Given the description of an element on the screen output the (x, y) to click on. 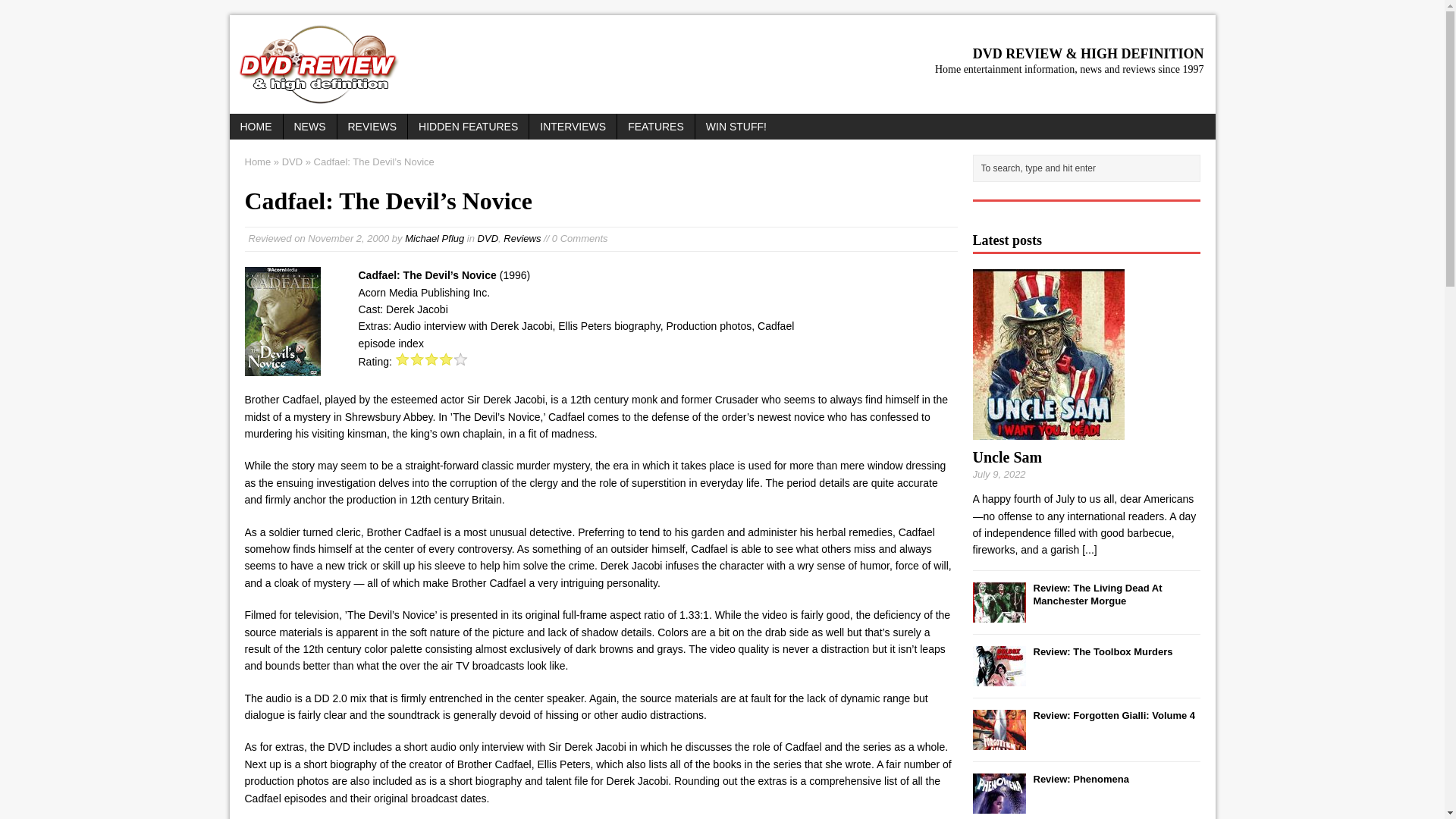
Forgotten Gialli: Volume 4 (998, 740)
WIN STUFF! (736, 126)
Home (257, 161)
DVD (292, 161)
Michael Pflug (434, 238)
INTERVIEWS (572, 126)
0 (431, 358)
HOME (255, 126)
To search, type and hit enter (1089, 167)
Review: Forgotten Gialli: Volume 4 (1113, 715)
